Given the description of an element on the screen output the (x, y) to click on. 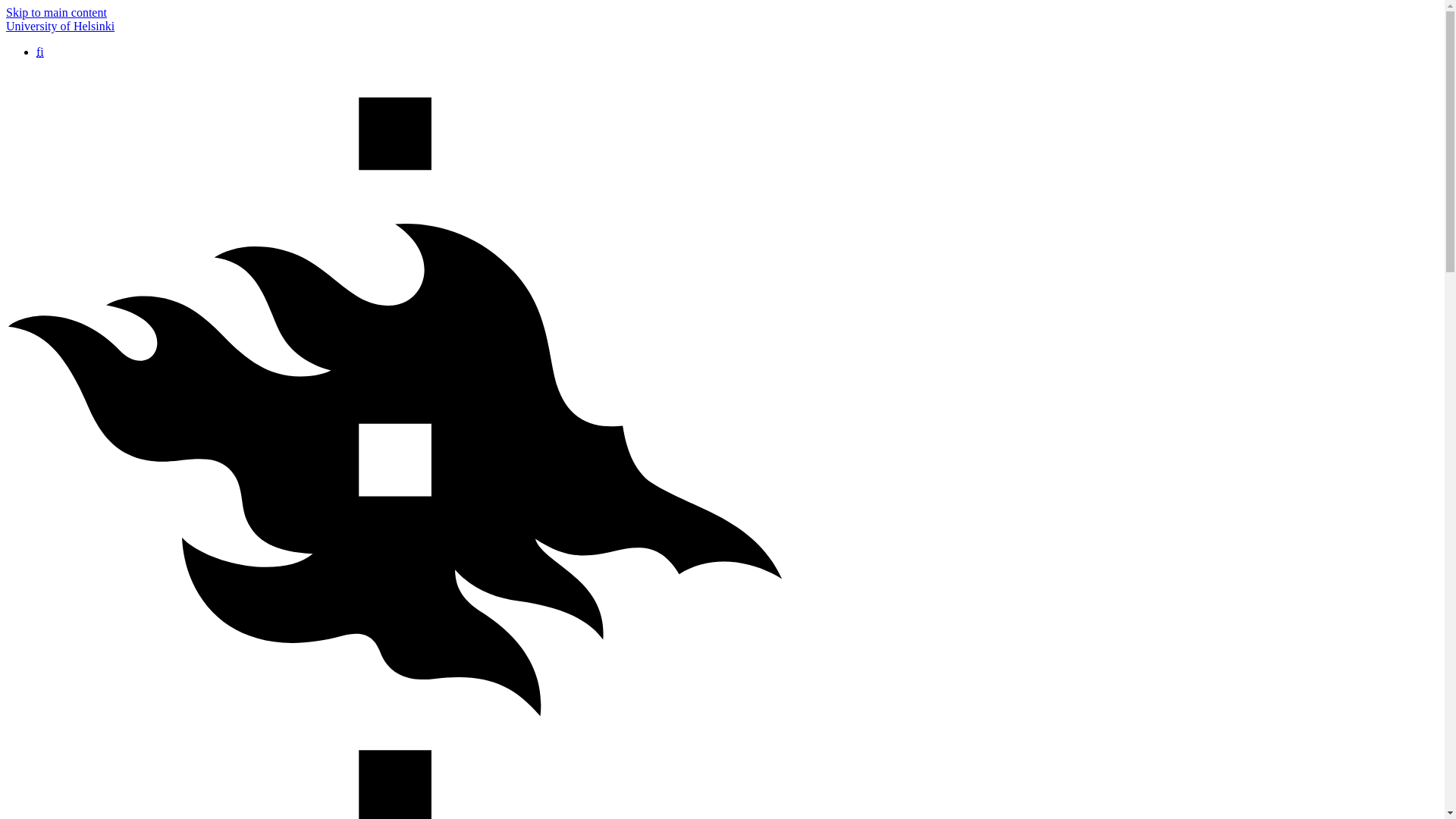
Suomi (39, 51)
fi (39, 51)
University of Helsinki (60, 25)
Skip to main content (55, 11)
